Given the description of an element on the screen output the (x, y) to click on. 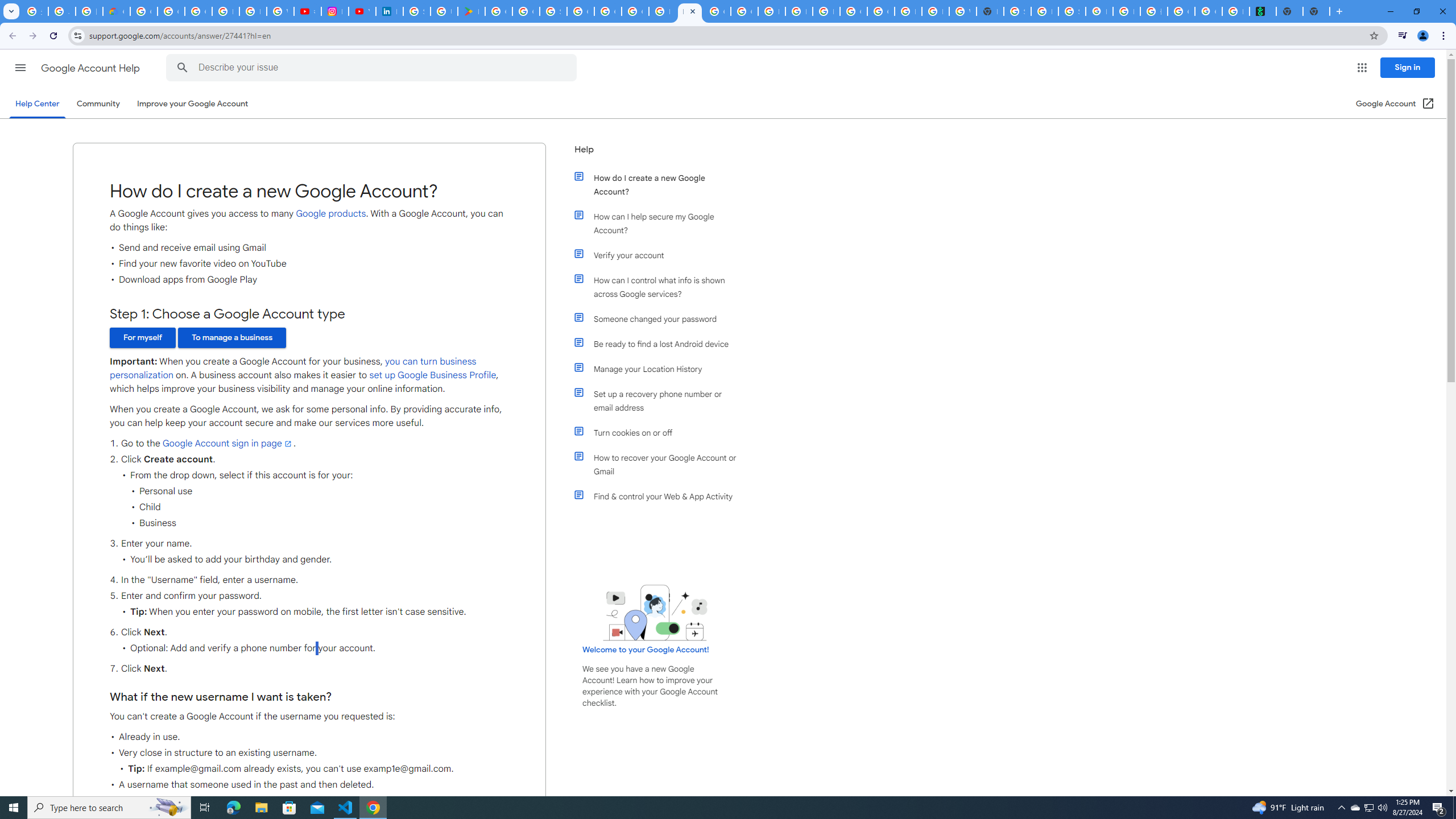
Search Help Center (181, 67)
Google Workspace - Specific Terms (525, 11)
set up Google Business Profile (432, 374)
Manage your Location History (661, 368)
Google Cloud Platform (880, 11)
Be ready to find a lost Android device (661, 343)
To manage a business (231, 337)
